Given the description of an element on the screen output the (x, y) to click on. 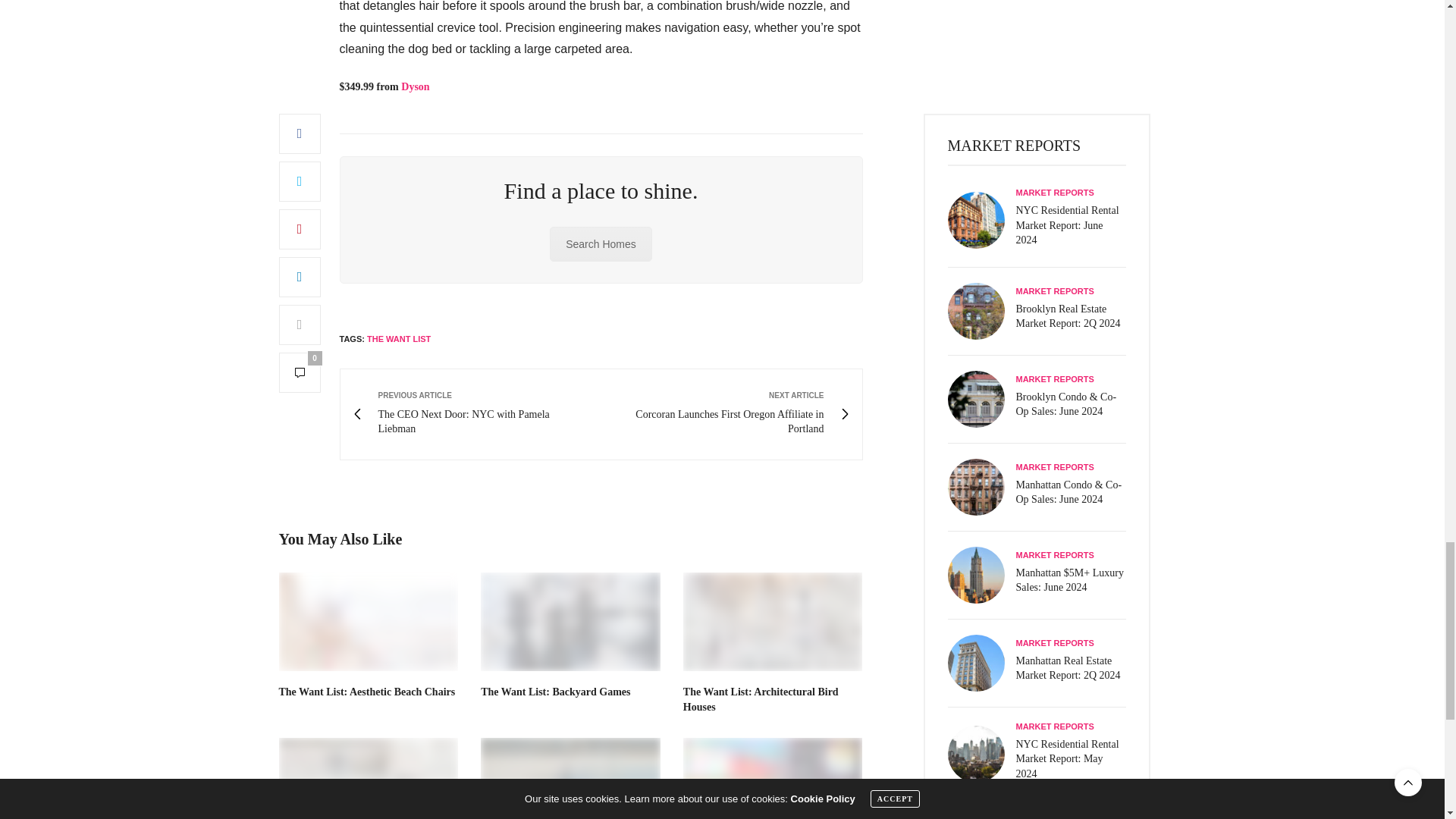
The Want List: Aesthetic Beach Chairs (368, 621)
The Want List: Alternatives to the TikTok-Viral Tumbler (570, 778)
Search Homes (601, 243)
The Want List: Backyard Games (555, 691)
The Want List: Backyard Games (570, 621)
THE WANT LIST (398, 338)
The Want List: Architectural Bird Houses (772, 621)
The Want List: Aesthetic Beach Chairs (367, 691)
The Want List: Lamps That Make a Statement (368, 778)
The Want List: Architectural Bird Houses (475, 414)
Dyson (760, 699)
